Given the description of an element on the screen output the (x, y) to click on. 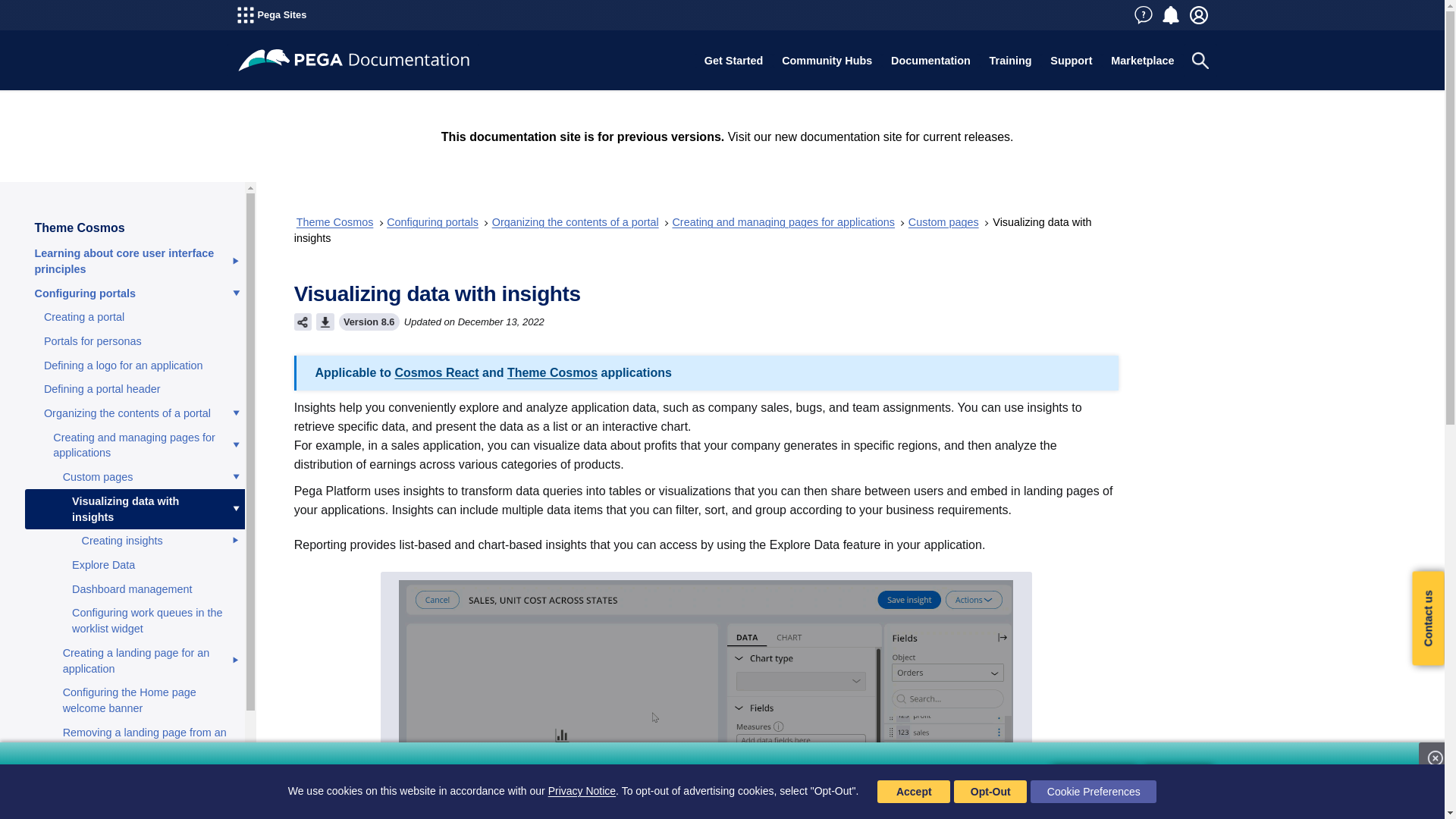
Community Hubs (827, 60)
Get Started (732, 60)
Toggle Search Panel (1200, 60)
